Given the description of an element on the screen output the (x, y) to click on. 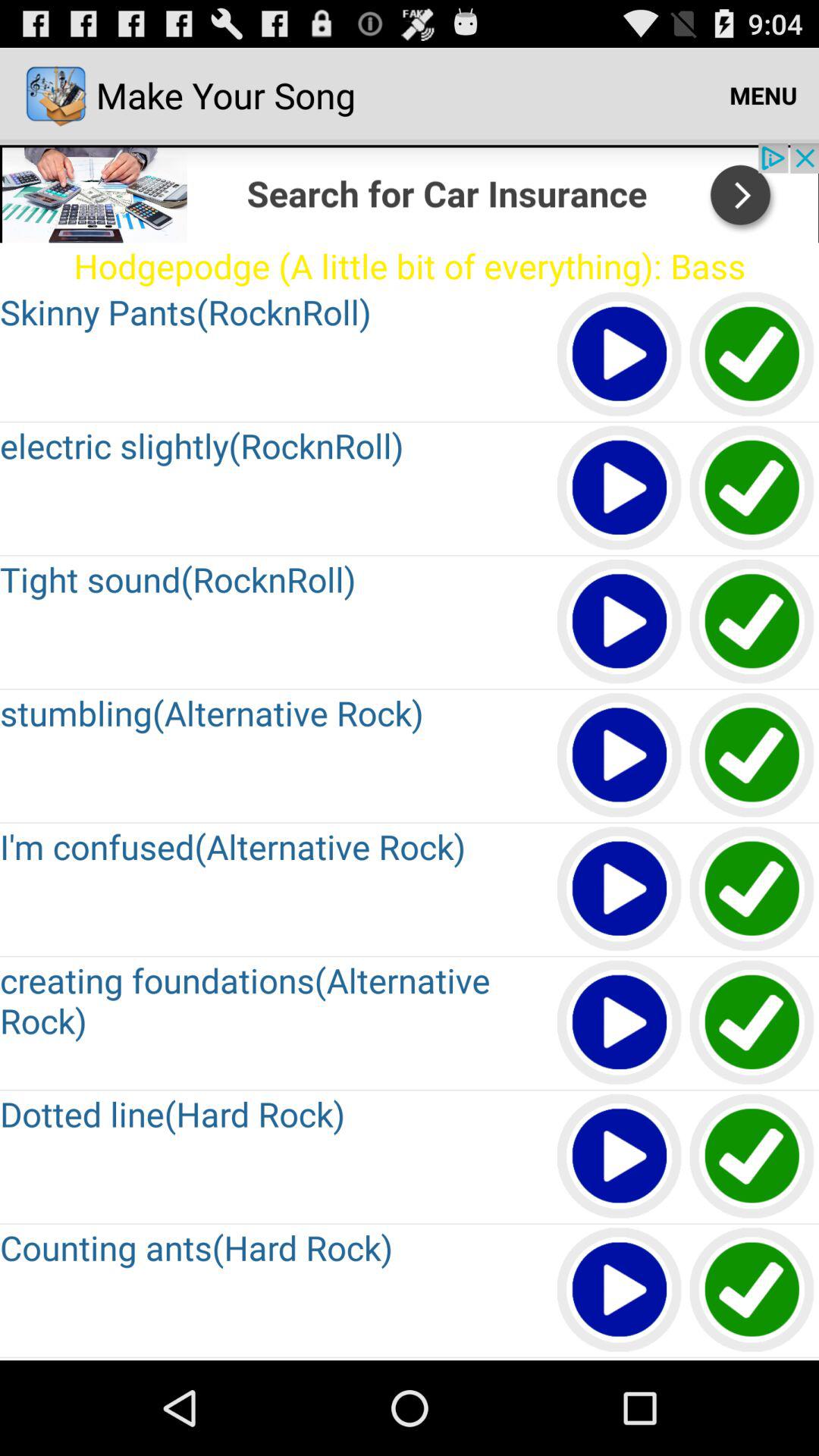
select option (752, 1290)
